Given the description of an element on the screen output the (x, y) to click on. 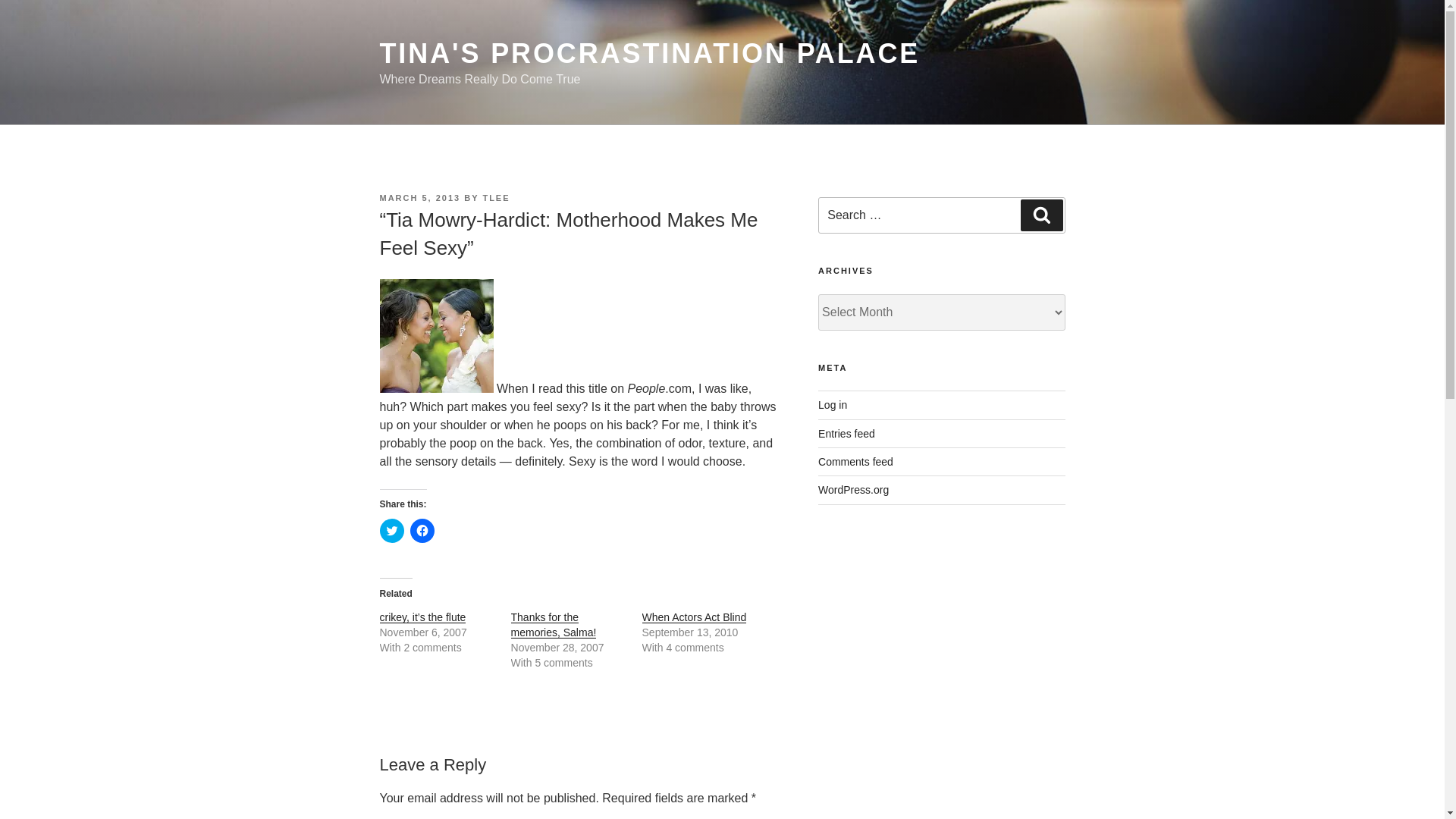
When Actors Act Blind (694, 616)
Thanks for the memories, Salma! (553, 624)
TINA'S PROCRASTINATION PALACE (649, 52)
TLEE (495, 197)
Click to share on Twitter (390, 530)
WordPress.org (853, 490)
Comments feed (855, 461)
Log in (832, 404)
Search (1041, 214)
MARCH 5, 2013 (419, 197)
When Actors Act Blind (694, 616)
Entries feed (846, 433)
Click to share on Facebook (421, 530)
Thanks for the memories, Salma! (553, 624)
